Given the description of an element on the screen output the (x, y) to click on. 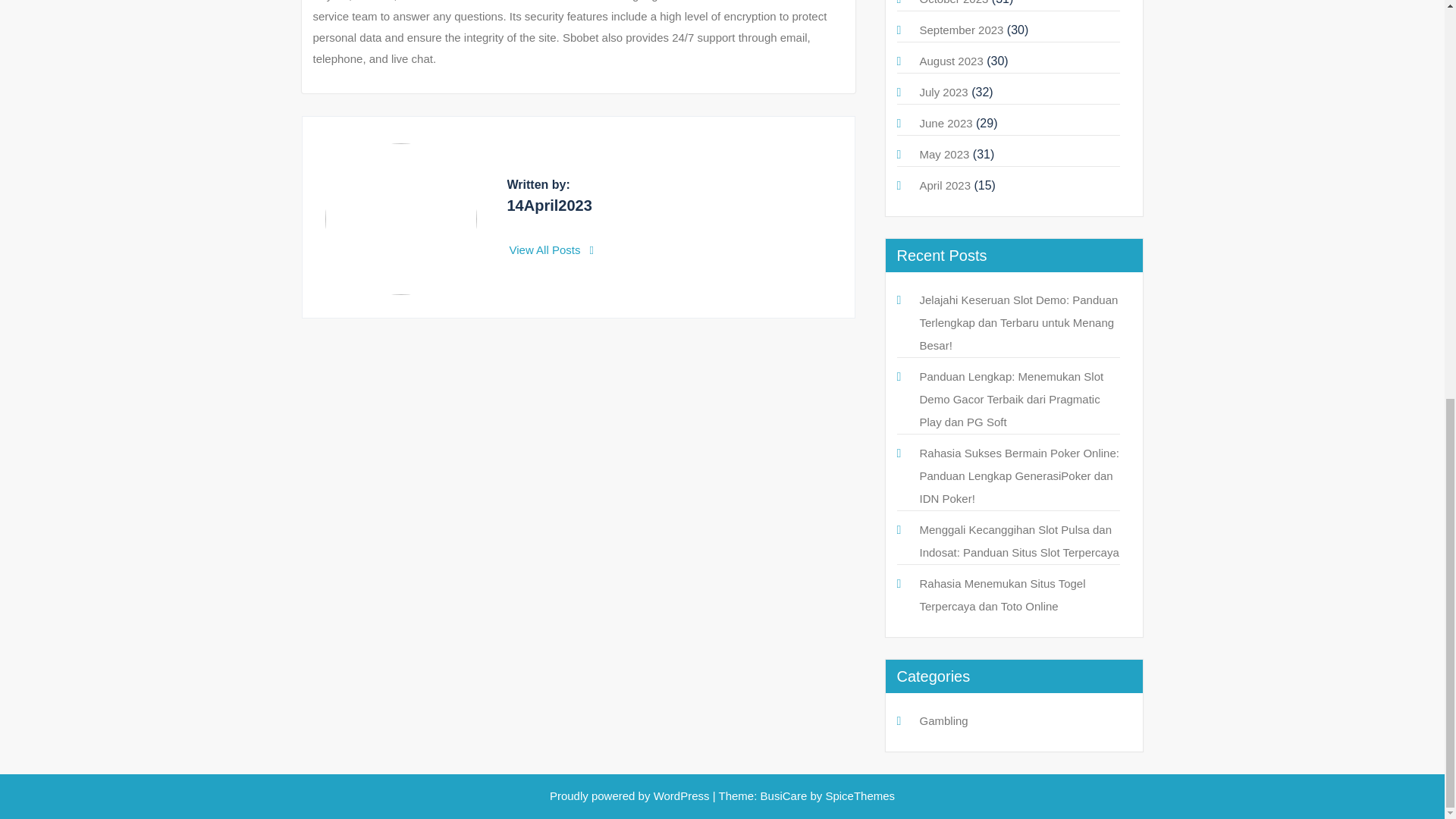
April 2023 (944, 185)
SpiceThemes (858, 795)
Rahasia Menemukan Situs Togel Terpercaya dan Toto Online (1001, 594)
October 2023 (953, 2)
View All Posts (551, 249)
May 2023 (943, 154)
Gambling (943, 720)
WordPress (681, 795)
